Given the description of an element on the screen output the (x, y) to click on. 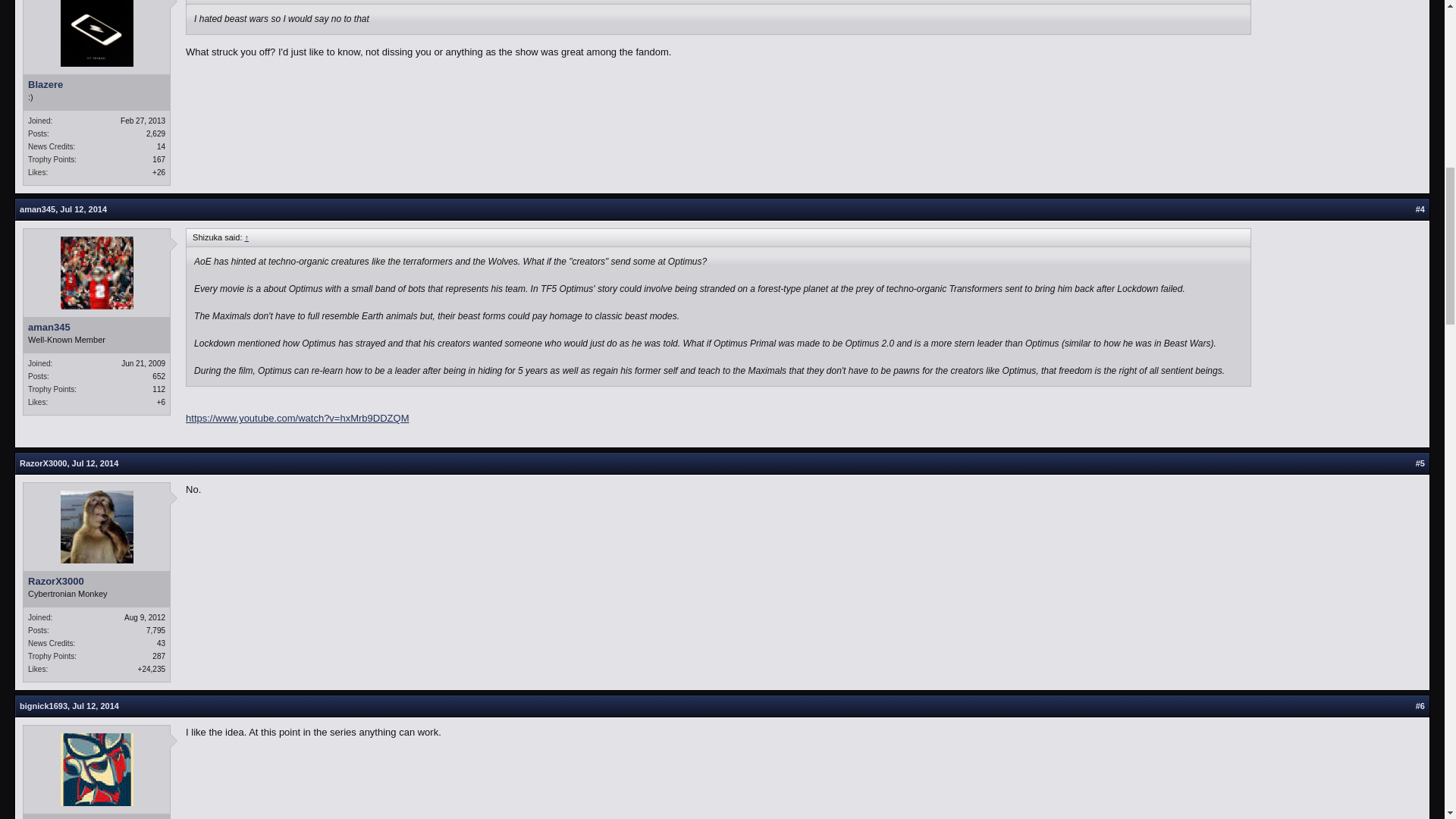
Permalink (82, 208)
Permalink (95, 705)
Permalink (95, 462)
2,629 (156, 133)
Jul 12, 2014 (82, 208)
167 (158, 159)
Blazere (96, 84)
aman345 (37, 208)
